Given the description of an element on the screen output the (x, y) to click on. 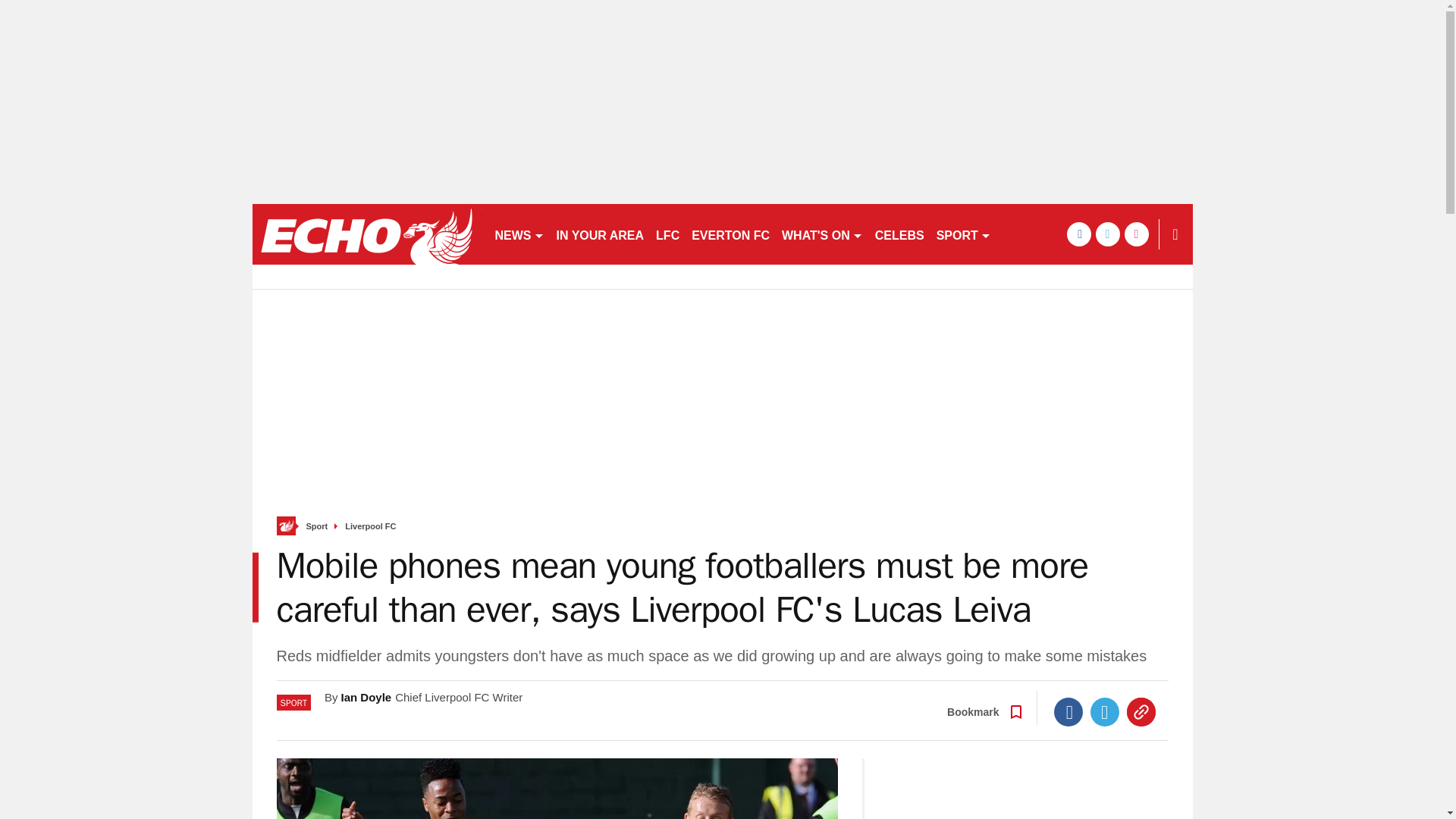
Facebook (1068, 711)
IN YOUR AREA (600, 233)
SPORT (963, 233)
EVERTON FC (730, 233)
twitter (1106, 233)
CELEBS (899, 233)
Twitter (1104, 711)
liverpoolecho (365, 233)
instagram (1136, 233)
NEWS (518, 233)
